Given the description of an element on the screen output the (x, y) to click on. 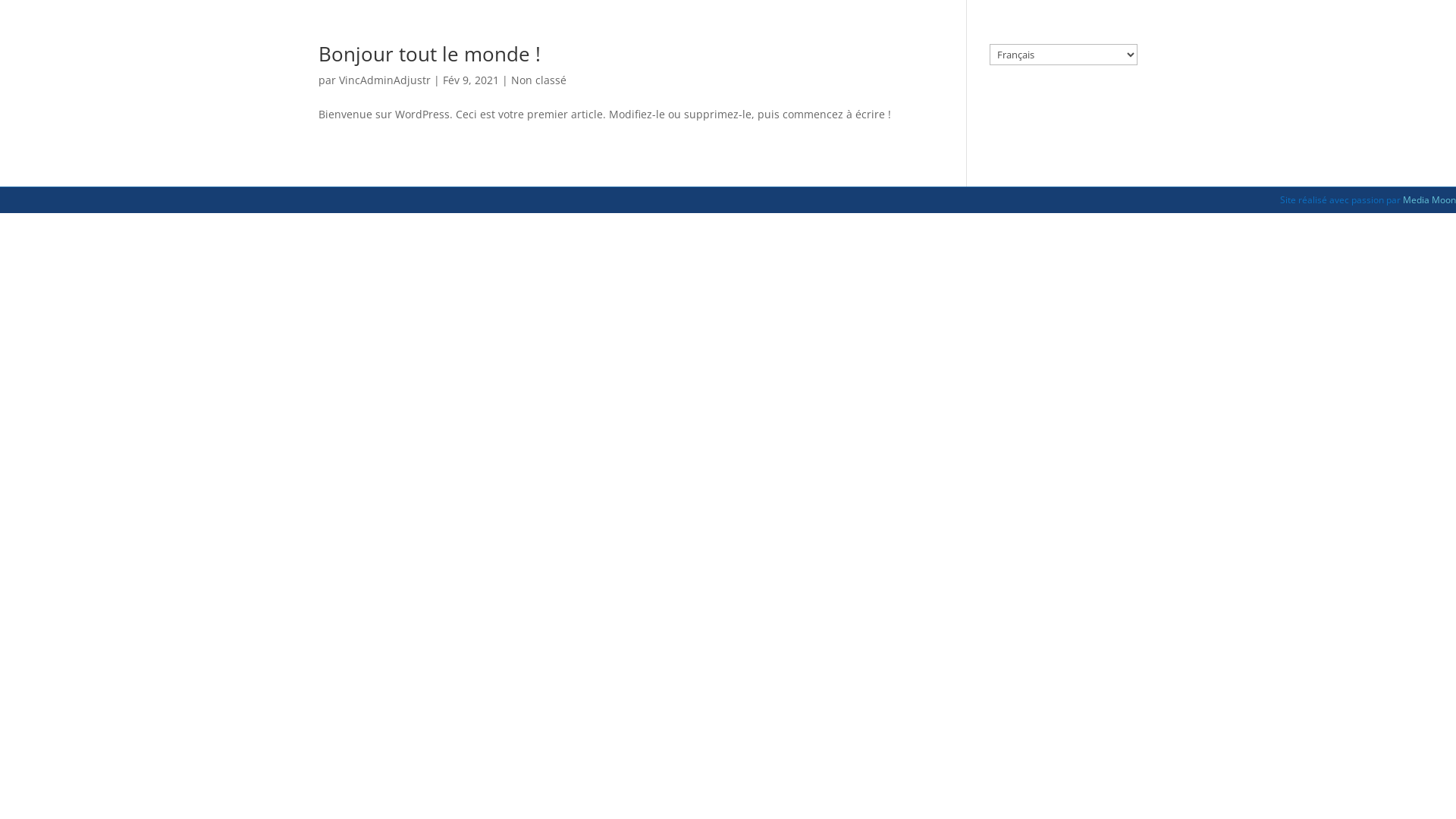
Bonjour tout le monde ! Element type: text (429, 53)
VincAdminAdjustr Element type: text (384, 79)
